Given the description of an element on the screen output the (x, y) to click on. 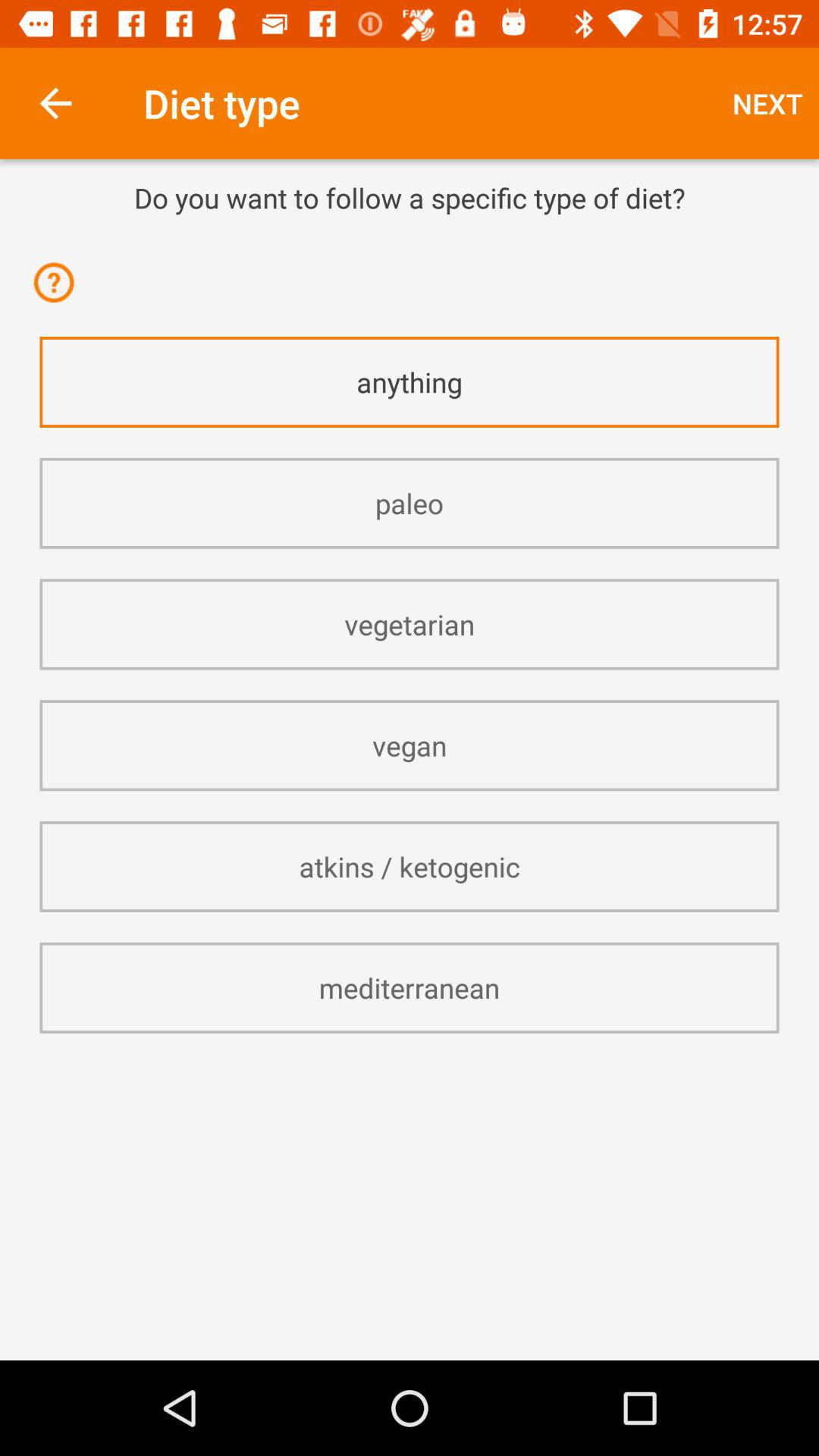
press the app above the atkins / ketogenic item (409, 745)
